Given the description of an element on the screen output the (x, y) to click on. 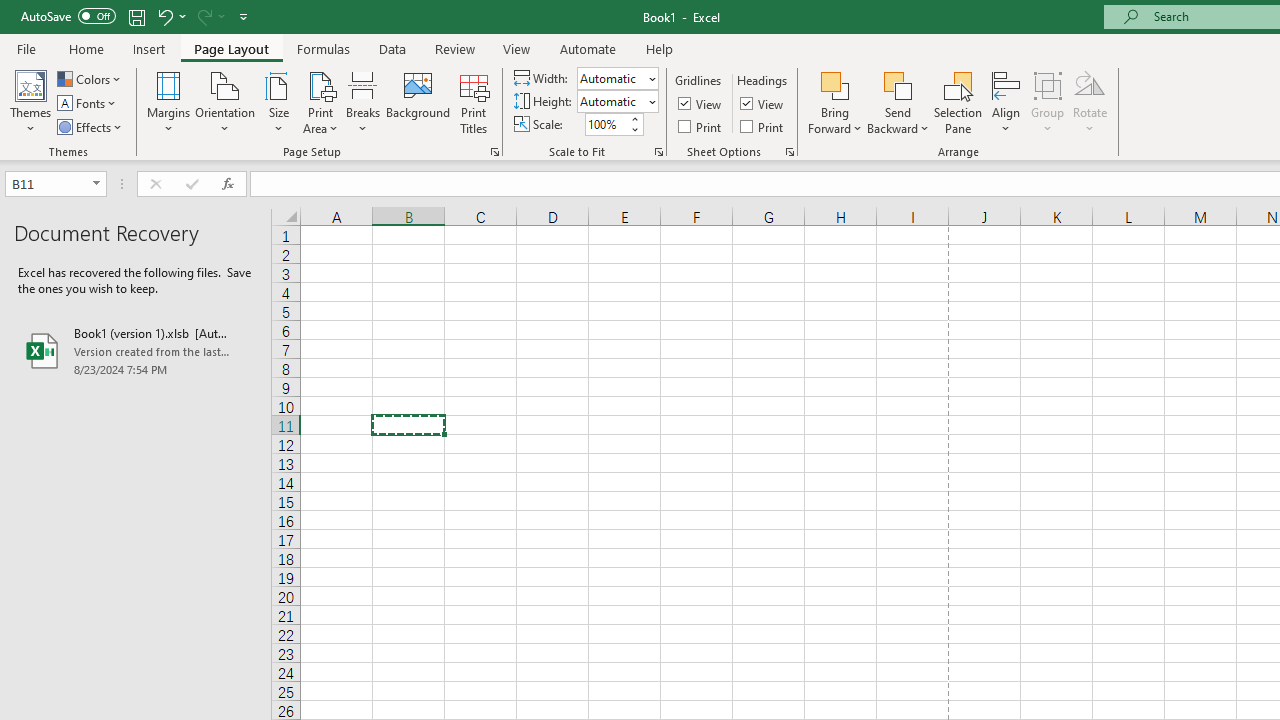
Send Backward (898, 102)
Scale (605, 124)
Background... (418, 102)
Group (1047, 102)
Breaks (362, 102)
Bring Forward (835, 102)
Print Area (320, 102)
Effects (91, 126)
Colors (90, 78)
Themes (30, 102)
